Given the description of an element on the screen output the (x, y) to click on. 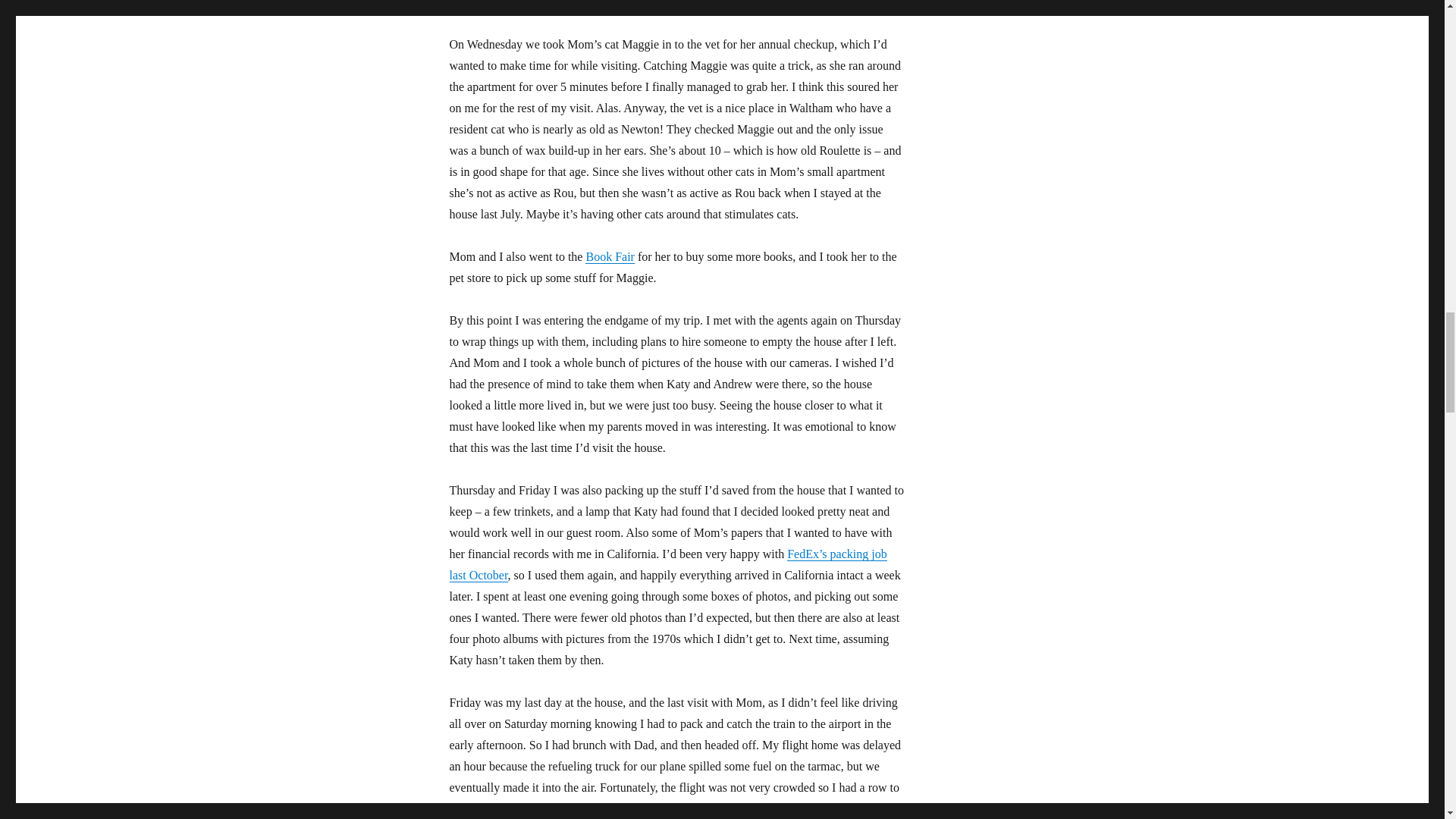
Book Fair (609, 256)
